Given the description of an element on the screen output the (x, y) to click on. 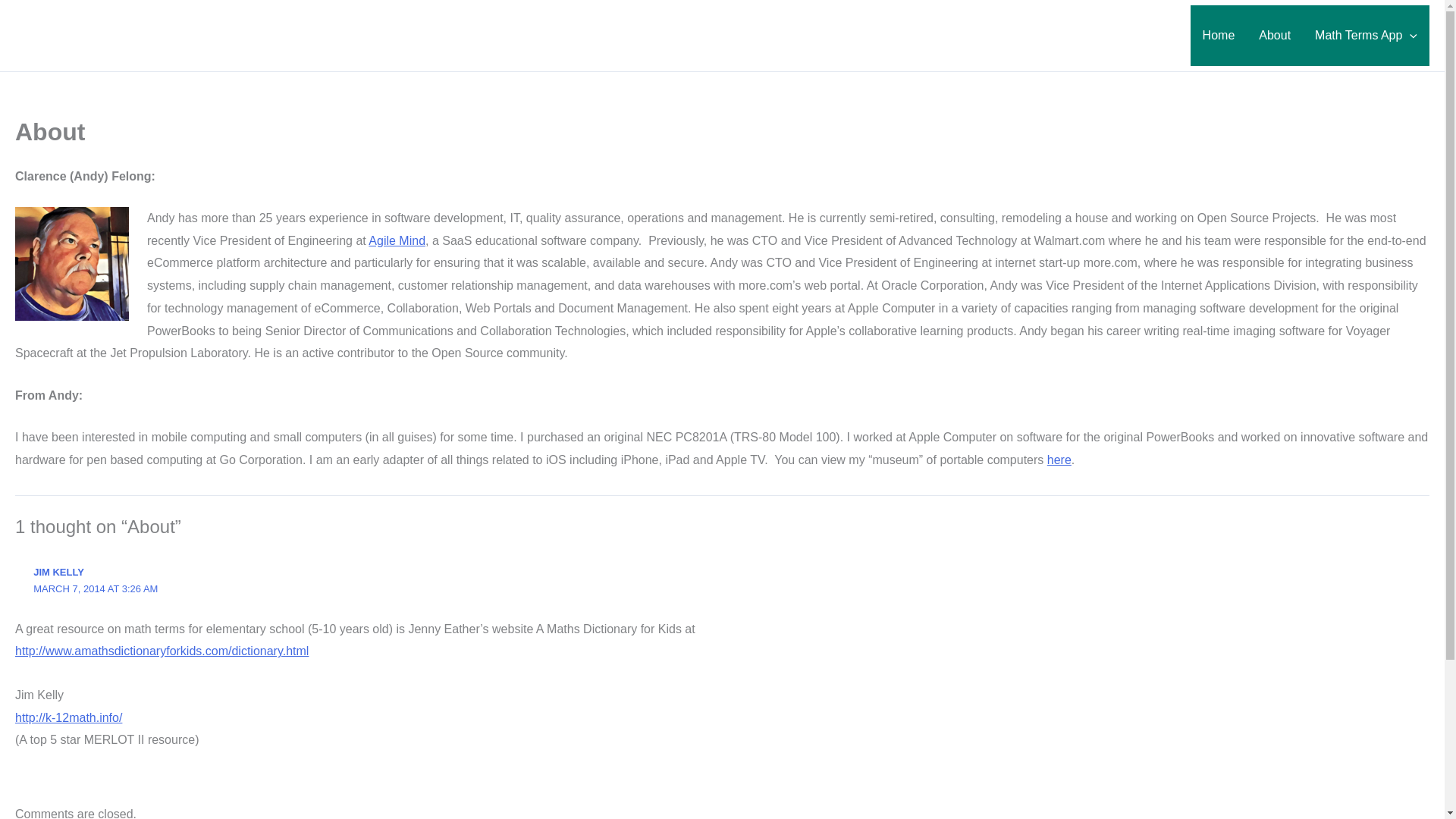
here (1058, 459)
Andy's Wearable Computing Museum (1058, 459)
MARCH 7, 2014 AT 3:26 AM (95, 588)
Math Terms App (1366, 35)
AndyFelong.com (113, 26)
Home (1219, 35)
About (1274, 35)
JIM KELLY (58, 572)
Agile Mind (396, 240)
